Given the description of an element on the screen output the (x, y) to click on. 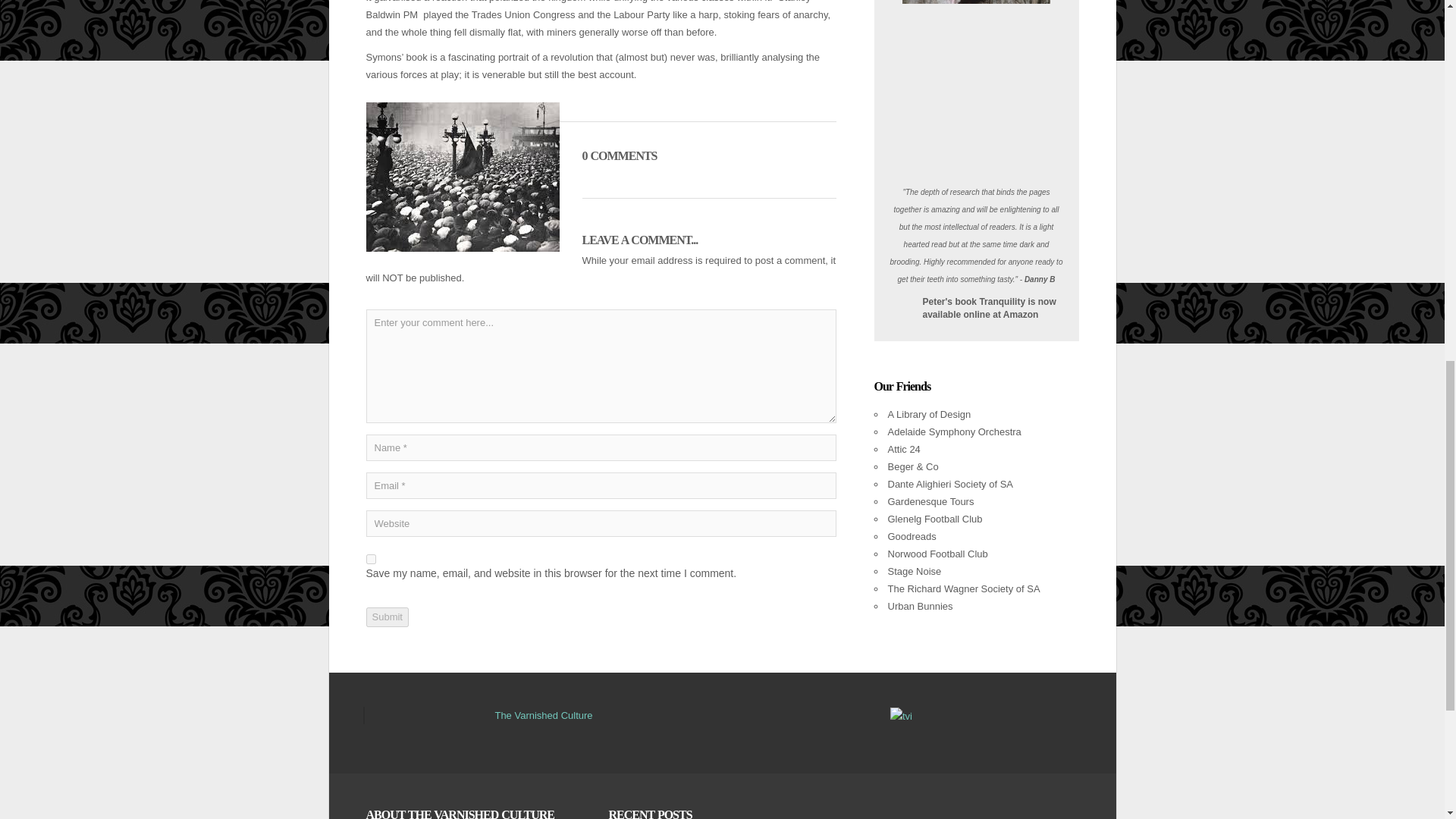
Submit (386, 617)
yes (370, 559)
Submit (386, 617)
